Given the description of an element on the screen output the (x, y) to click on. 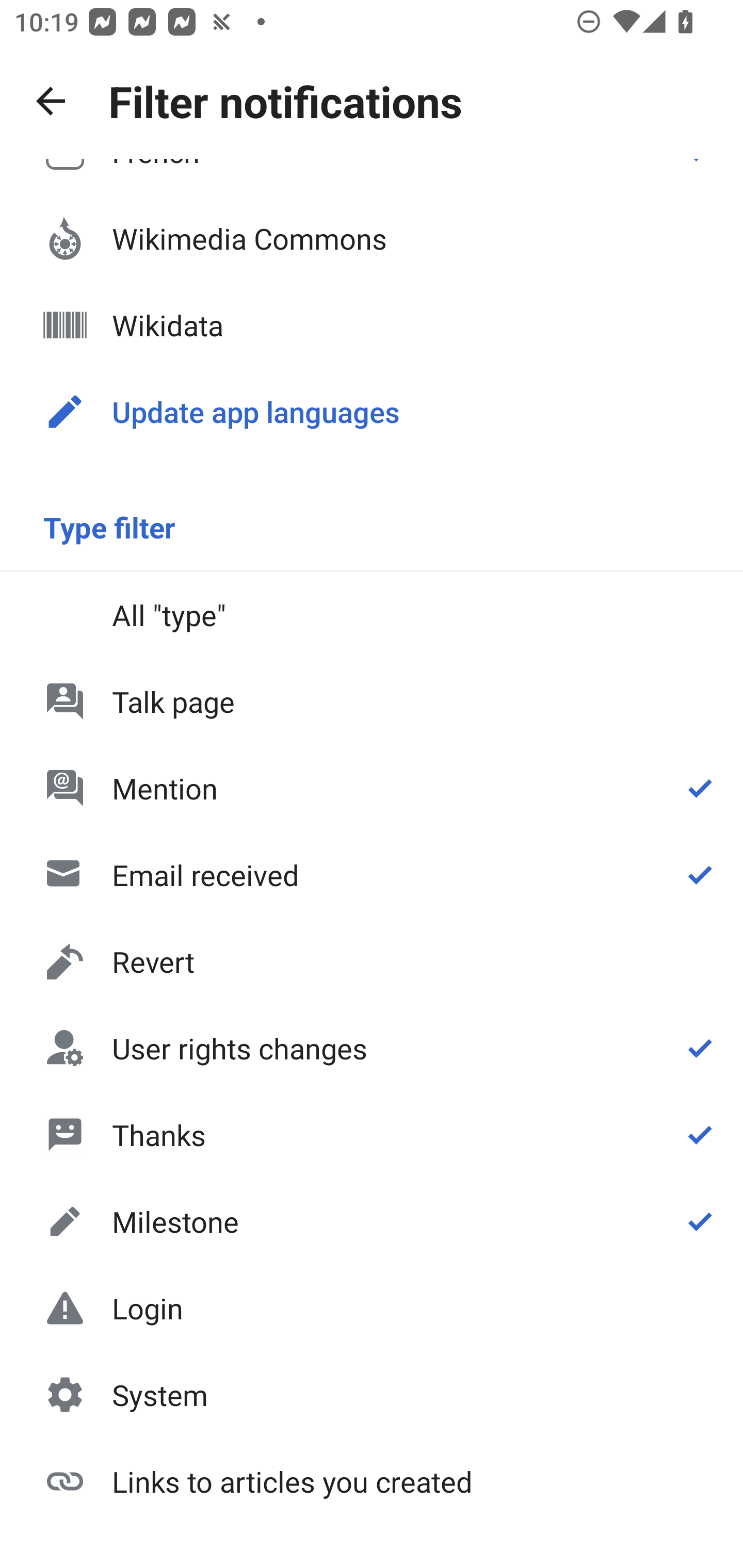
Navigate up (50, 101)
Wikimedia Commons (371, 238)
Wikidata (371, 325)
Update app languages (371, 411)
All "type" (371, 614)
Talk page (371, 701)
Mention (371, 787)
Email received (371, 874)
Revert (371, 961)
User rights changes (371, 1048)
Thanks (371, 1134)
Milestone (371, 1221)
Login (371, 1308)
System (371, 1394)
Links to articles you created (371, 1480)
